Given the description of an element on the screen output the (x, y) to click on. 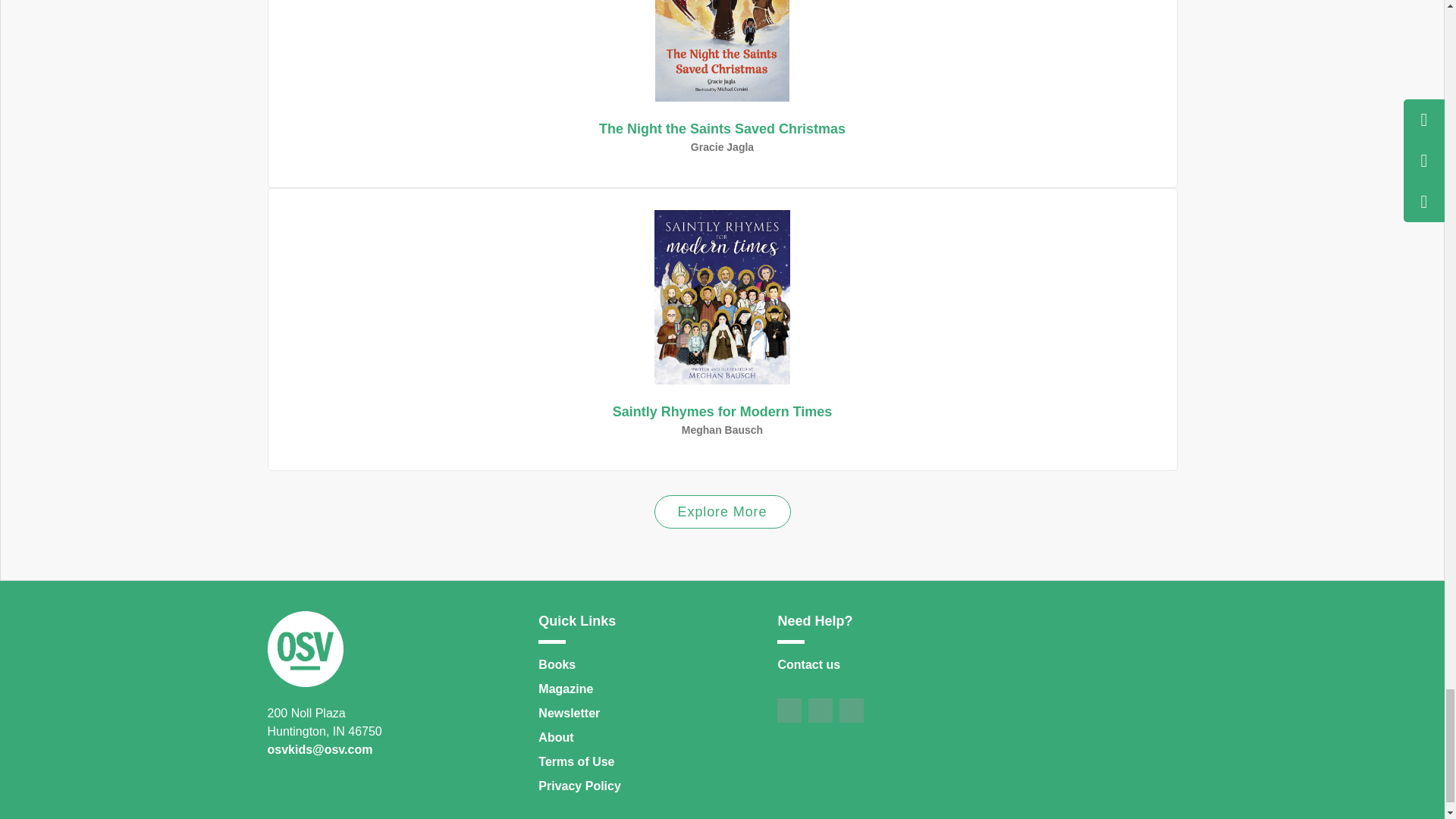
Explore More (721, 405)
